Given the description of an element on the screen output the (x, y) to click on. 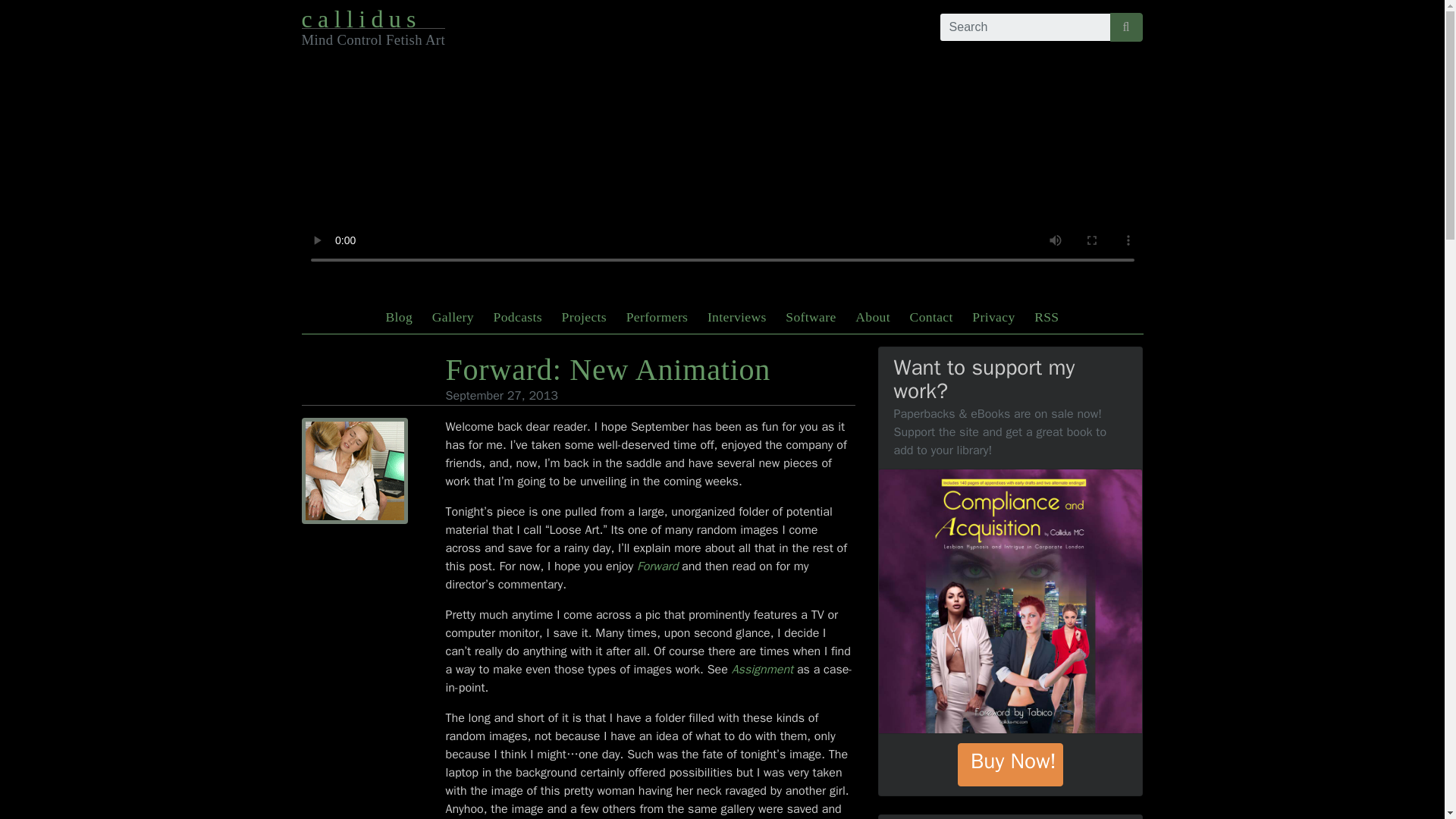
Forward (657, 566)
Projects (584, 316)
Interviews (737, 316)
Assignment (762, 669)
Podcasts (517, 316)
callidus (361, 18)
RSS (1045, 316)
Gallery (453, 316)
Software (809, 316)
Blog (398, 316)
